Given the description of an element on the screen output the (x, y) to click on. 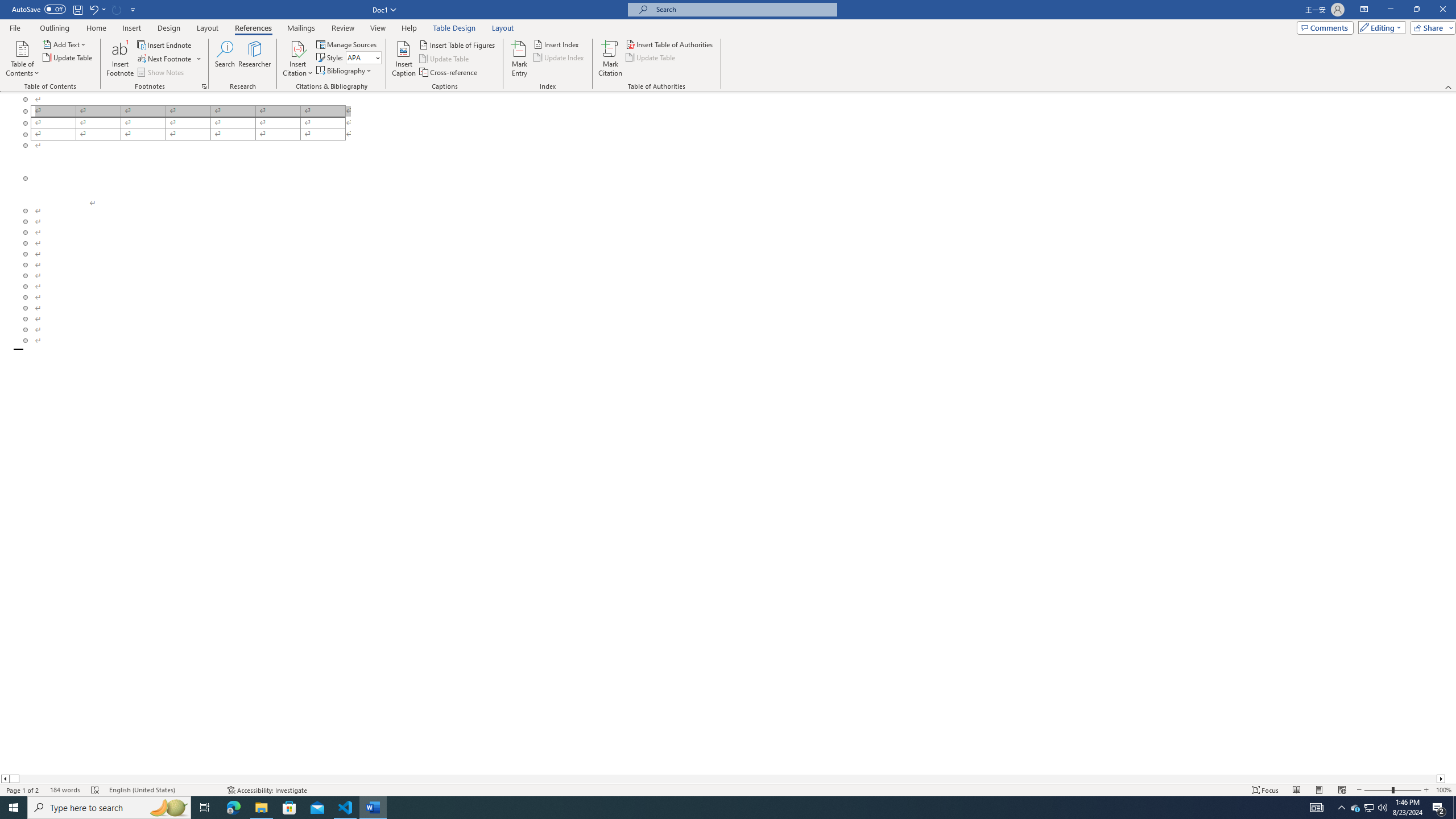
Add Text (65, 44)
